Given the description of an element on the screen output the (x, y) to click on. 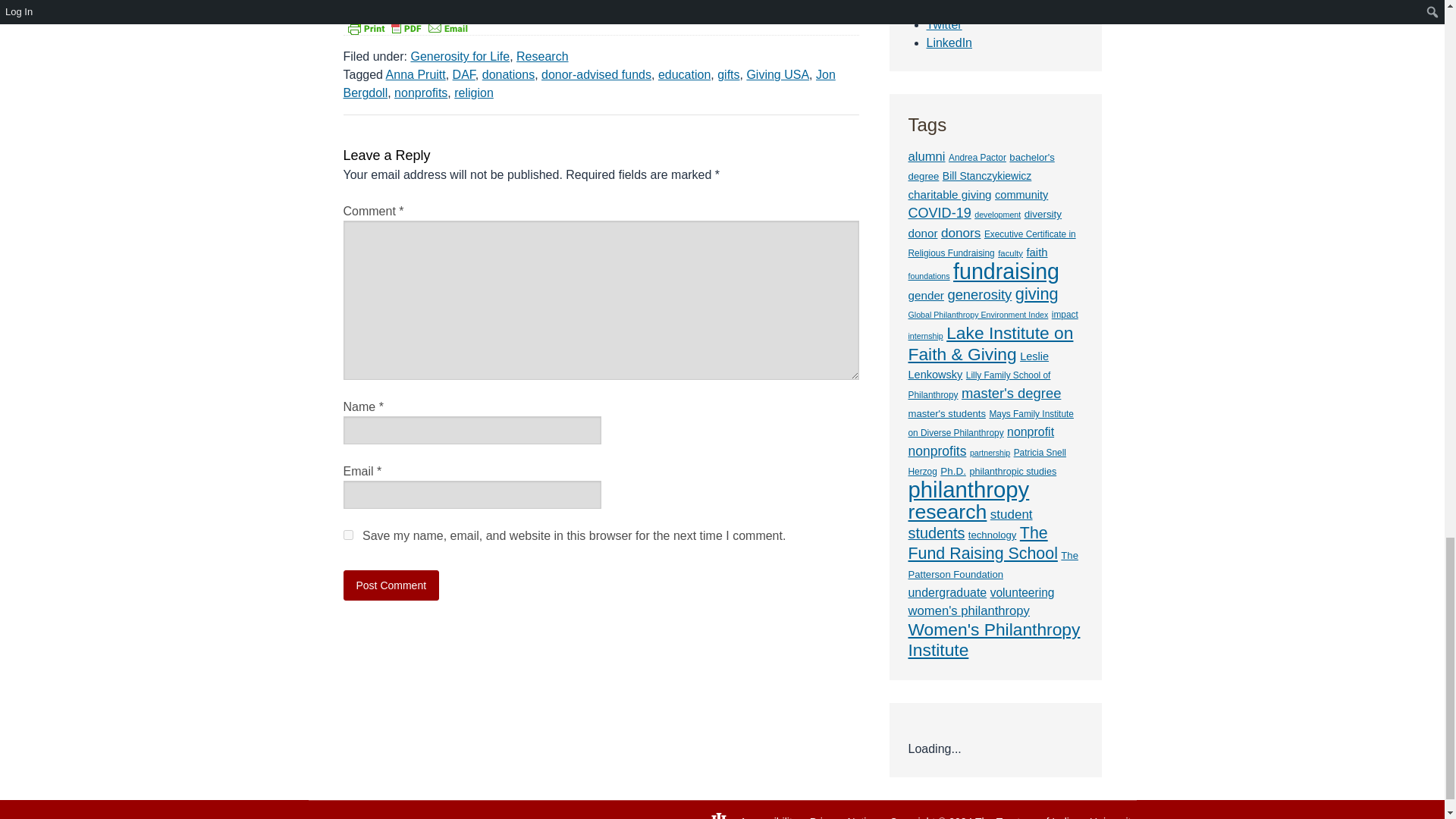
yes (347, 534)
Subscribe me! (1050, 273)
Giving USA (777, 74)
DAF (464, 74)
education (684, 74)
Post Comment (390, 585)
Anna Pruitt (415, 74)
Research (541, 56)
gifts (728, 74)
donations (507, 74)
Generosity for Life (459, 56)
donor-advised funds (595, 74)
